Given the description of an element on the screen output the (x, y) to click on. 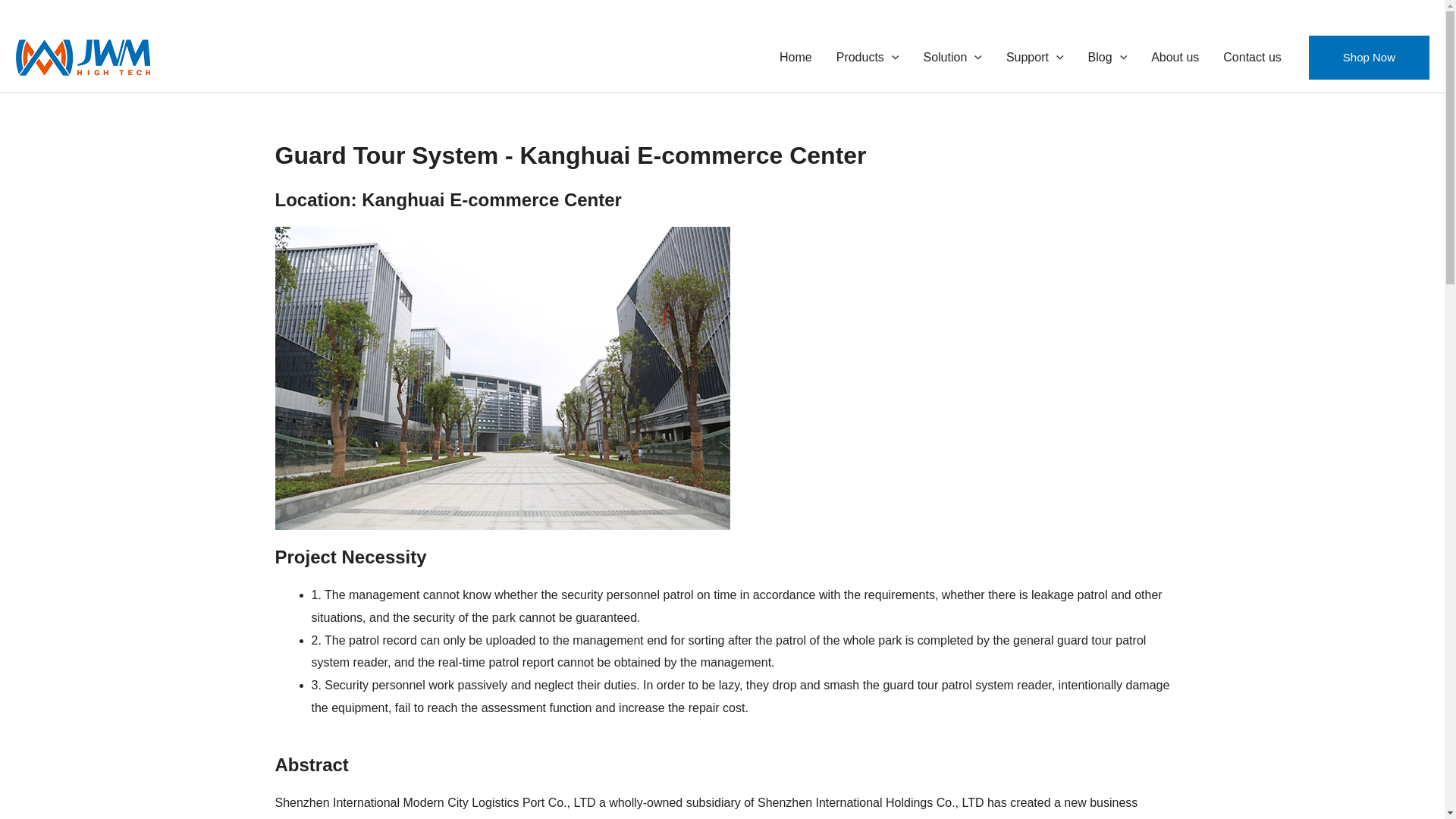
About us (1174, 57)
Shop Now (1368, 57)
Contact us (1251, 57)
Home (795, 57)
Blog (1107, 57)
Support (1034, 57)
Products (867, 57)
Solution (951, 57)
